Given the description of an element on the screen output the (x, y) to click on. 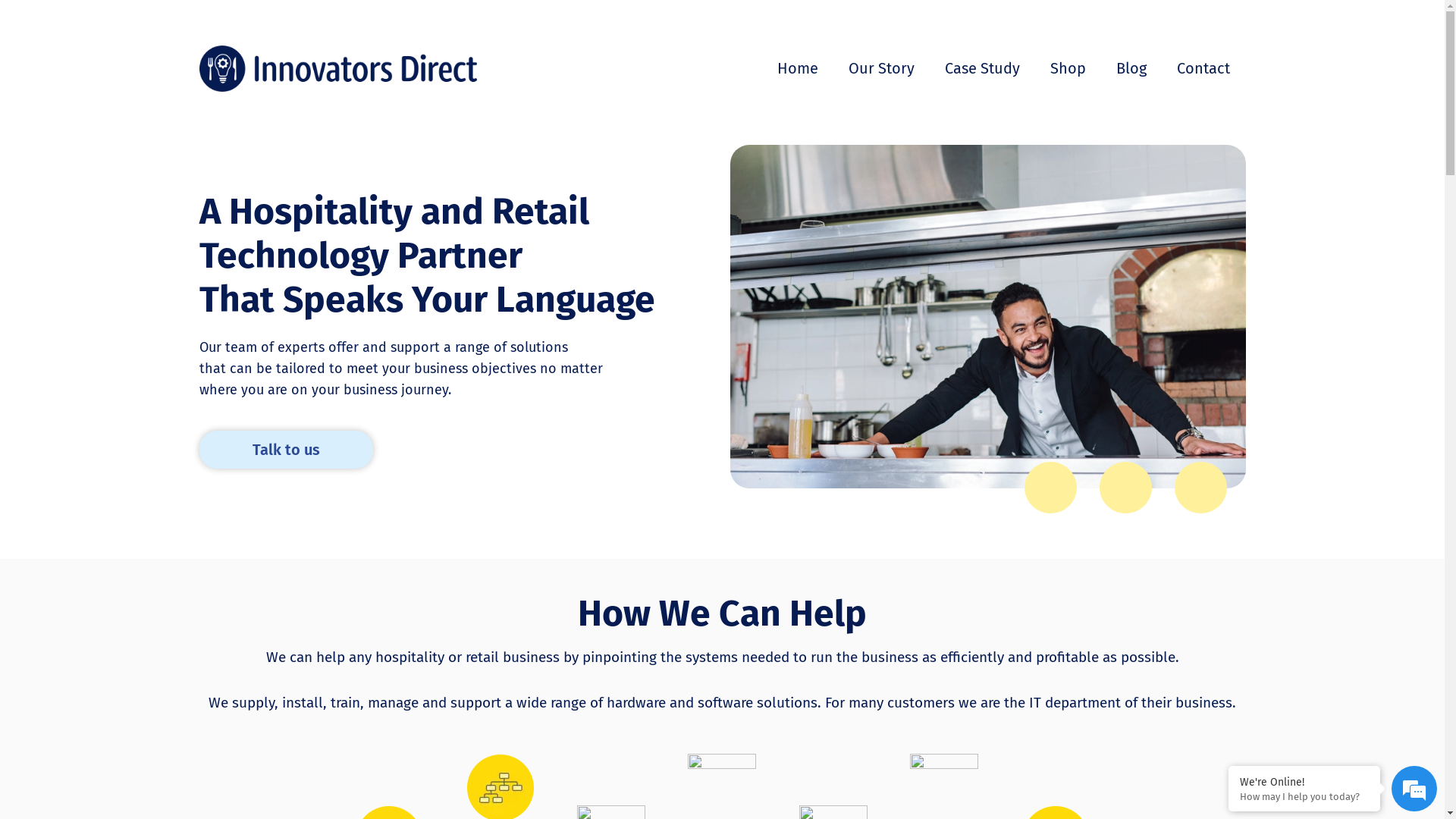
Contact Element type: text (1203, 68)
Case Study Element type: text (982, 68)
Our Story Element type: text (881, 68)
Talk to us Element type: text (285, 449)
Blog Element type: text (1131, 68)
Home Element type: text (797, 68)
Shop Element type: text (1068, 68)
